Given the description of an element on the screen output the (x, y) to click on. 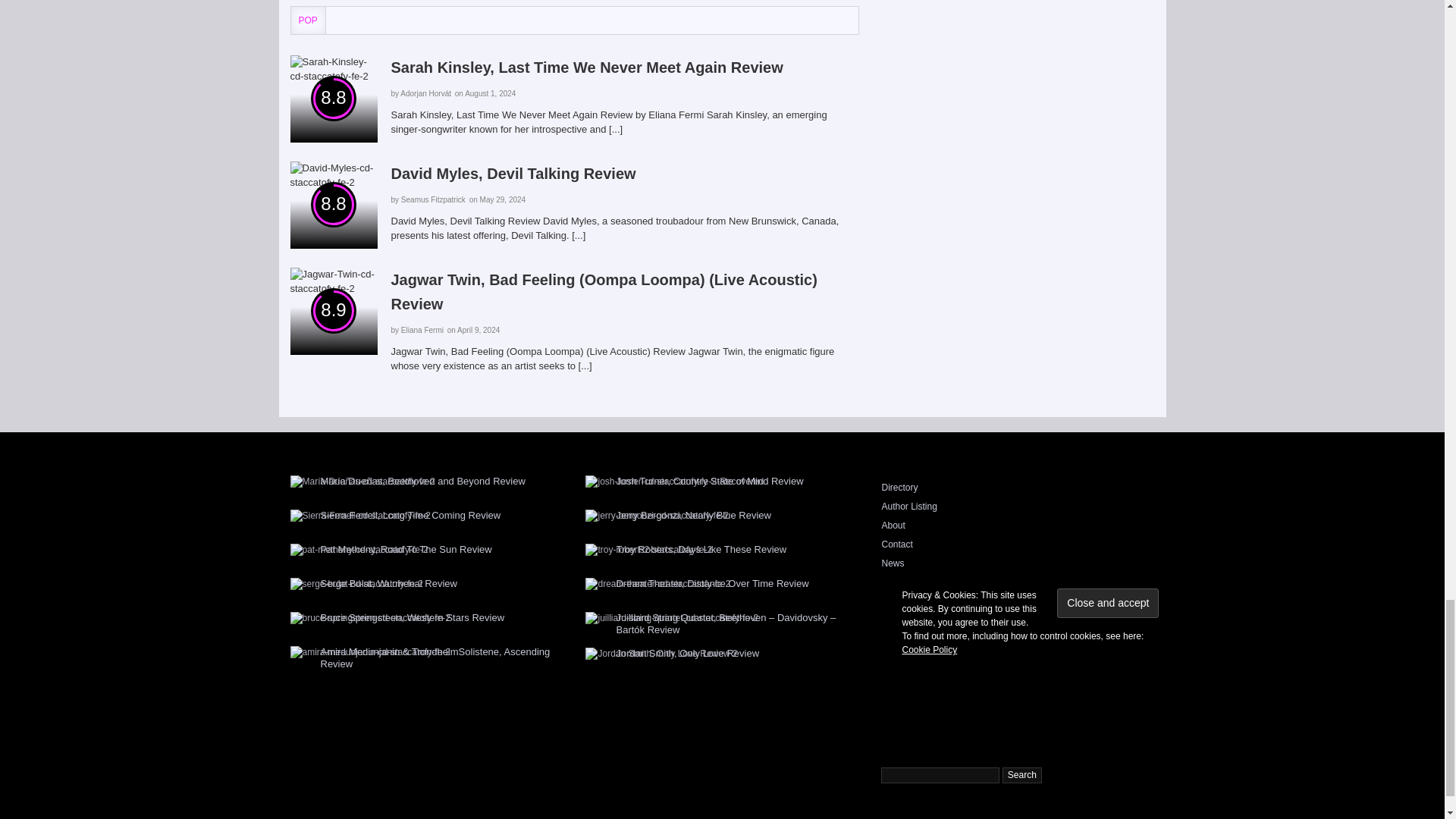
Close and accept (1107, 603)
Search (1022, 774)
